Given the description of an element on the screen output the (x, y) to click on. 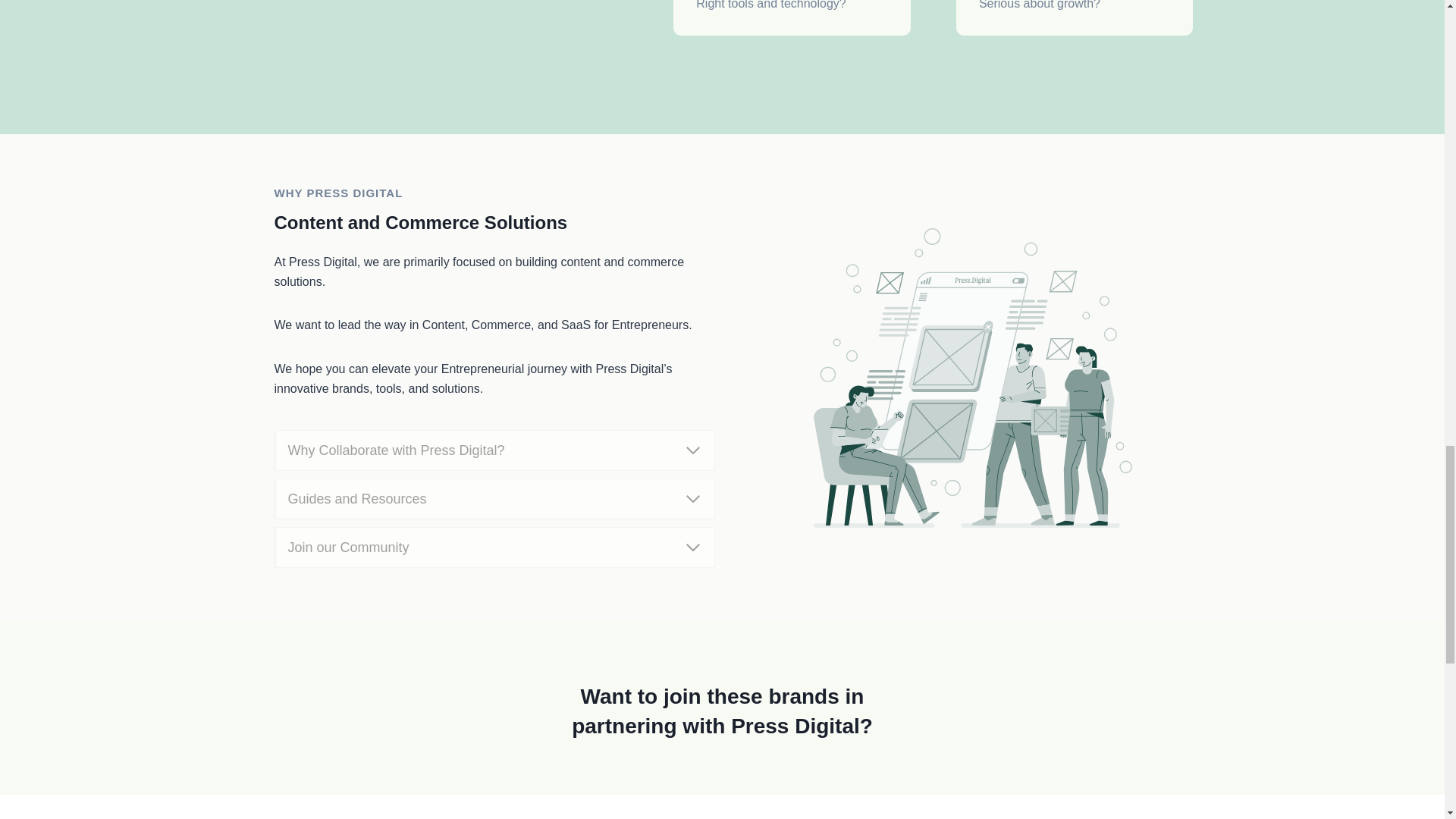
Join our Community (494, 547)
Guides and Resources (494, 498)
Why Collaborate with Press Digital? (494, 449)
